Given the description of an element on the screen output the (x, y) to click on. 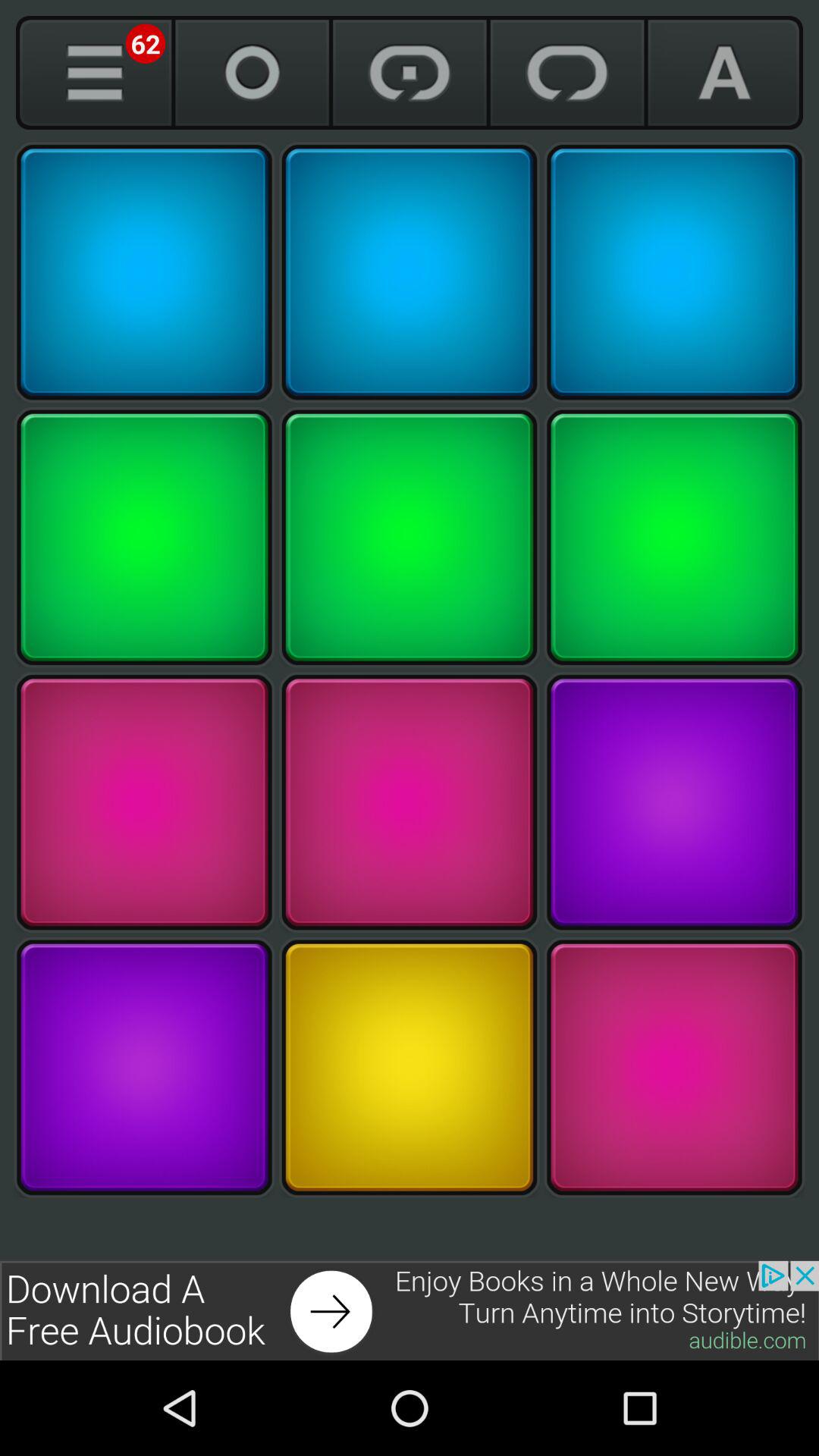
keypad 1 (144, 272)
